Given the description of an element on the screen output the (x, y) to click on. 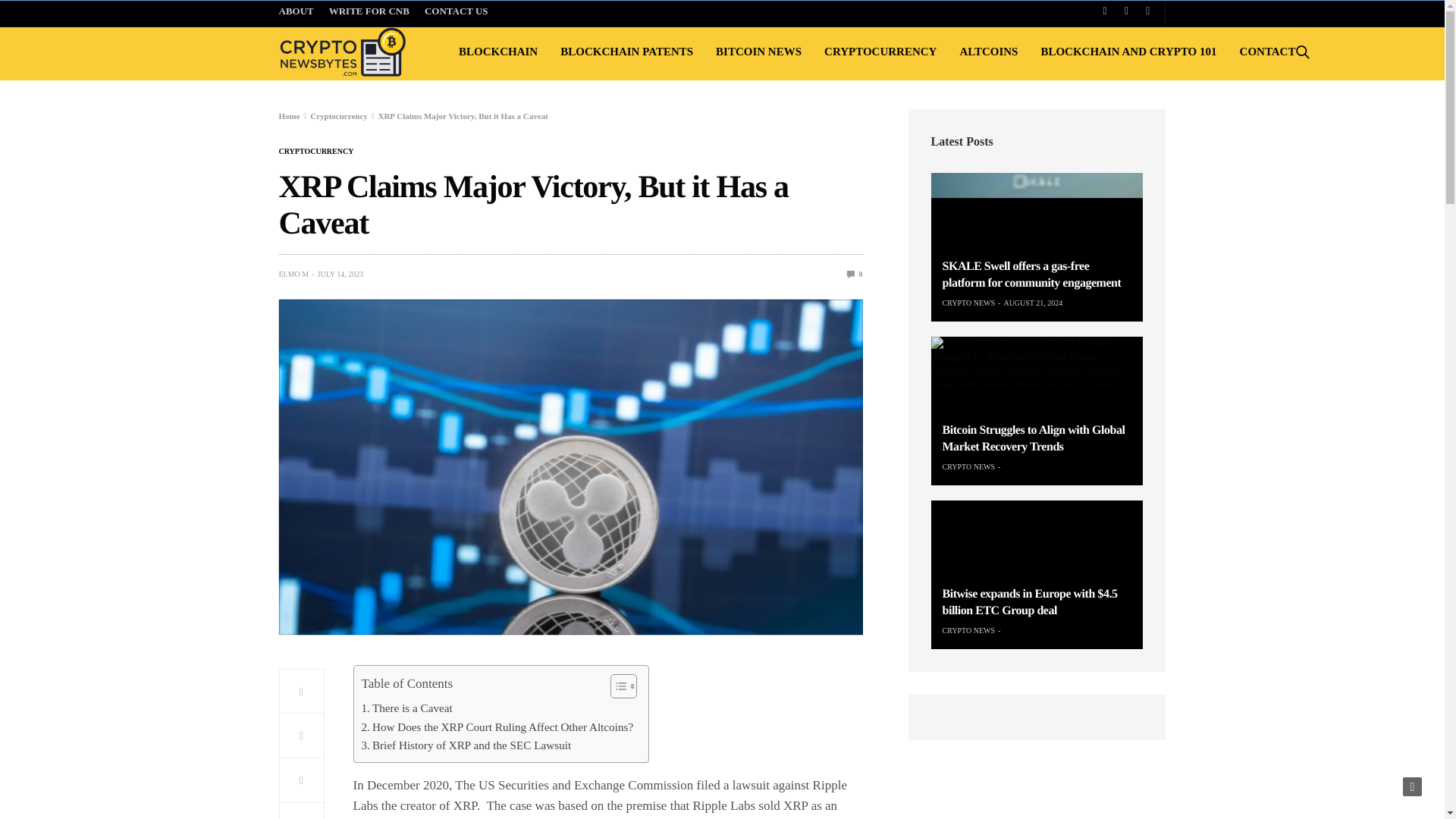
BLOCKCHAIN (497, 51)
ABOUT (300, 13)
WRITE FOR CNB (368, 13)
There is a Caveat (406, 708)
BITCOIN NEWS (759, 51)
Home (289, 115)
CRYPTOCURRENCY (316, 151)
CONTACT US (456, 13)
ALTCOINS (988, 51)
BLOCKCHAIN AND CRYPTO 101 (1128, 51)
